Given the description of an element on the screen output the (x, y) to click on. 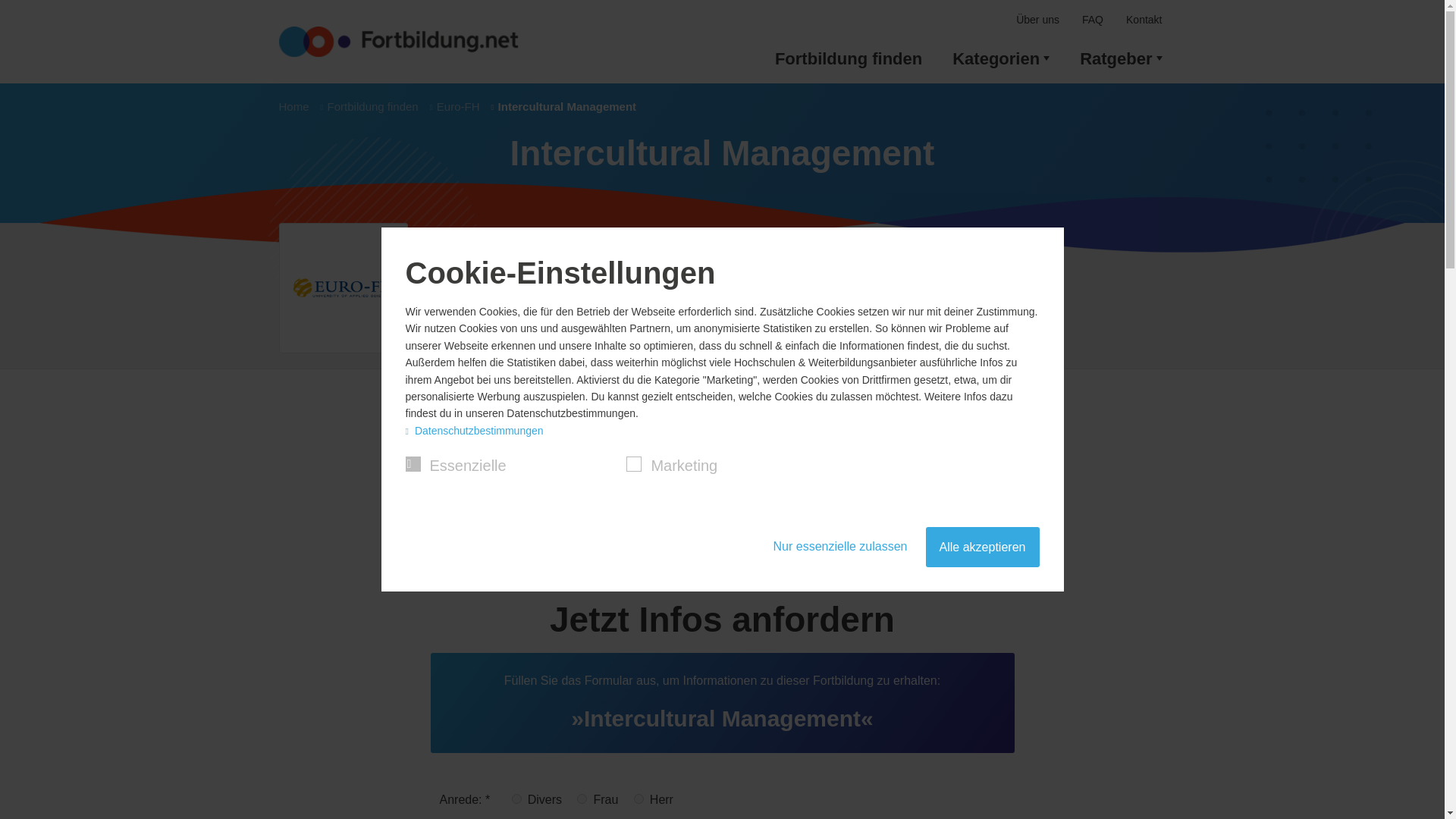
Ratgeber (1120, 58)
Fortbildung finden (374, 107)
Divers (516, 798)
Fortbildung finden (848, 58)
Kategorien (1000, 58)
Infos anfordern (480, 334)
Fortbildung finden (848, 58)
Herr (638, 798)
Intercultural Management (563, 107)
Home (299, 107)
FAQ (1092, 19)
Ratgeber (1120, 58)
Kategorien (1000, 58)
Frau (581, 798)
Kontakt (1144, 19)
